Given the description of an element on the screen output the (x, y) to click on. 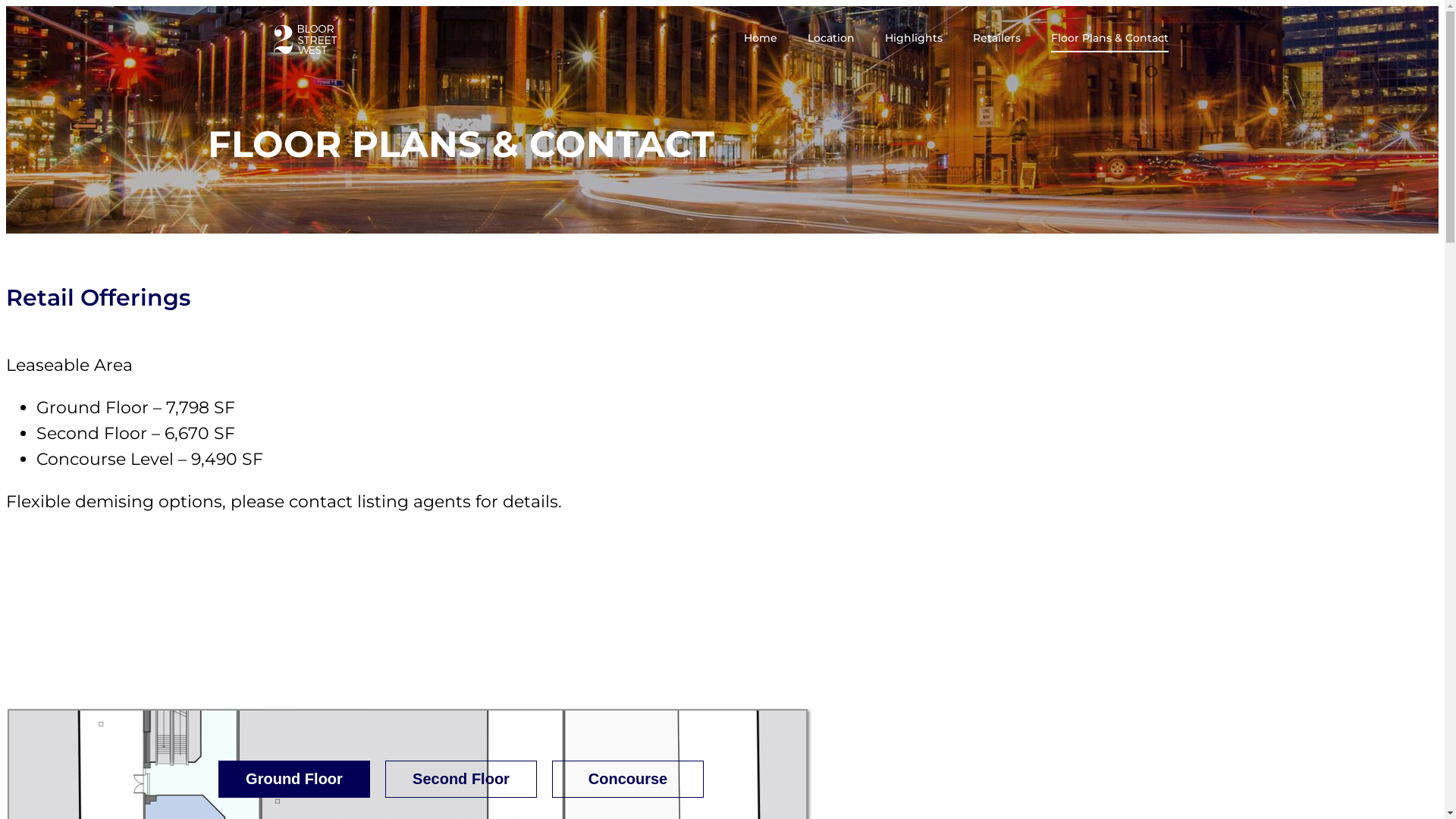
Location Element type: text (829, 41)
Highlights Element type: text (912, 41)
Second Floor Element type: text (460, 778)
Floor Plans & Contact Element type: text (1109, 41)
Concourse Element type: text (627, 778)
Ground Floor Element type: text (294, 778)
Home Element type: text (759, 41)
Retailers Element type: text (995, 41)
